Given the description of an element on the screen output the (x, y) to click on. 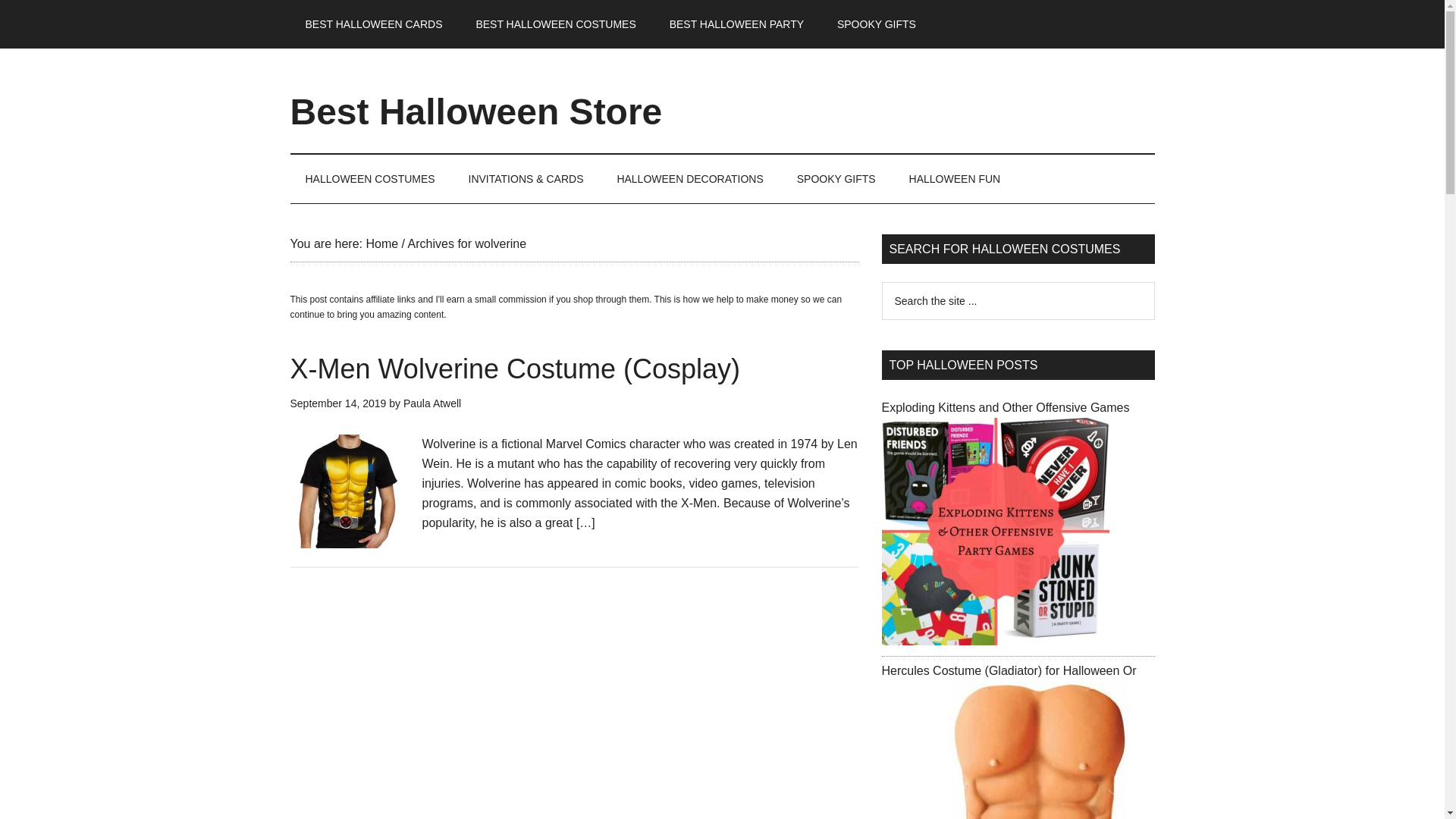
BEST HALLOWEEN CARDS (373, 24)
BEST HALLOWEEN PARTY (735, 24)
SPOOKY GIFTS (836, 178)
HALLOWEEN COSTUMES (369, 178)
Best Halloween Store (475, 111)
affiliate links (390, 299)
HALLOWEEN DECORATIONS (689, 178)
Paula Atwell (432, 403)
Home (381, 243)
BEST HALLOWEEN COSTUMES (555, 24)
Exploding Kittens and Other Offensive Games (1004, 407)
SPOOKY GIFTS (876, 24)
